Given the description of an element on the screen output the (x, y) to click on. 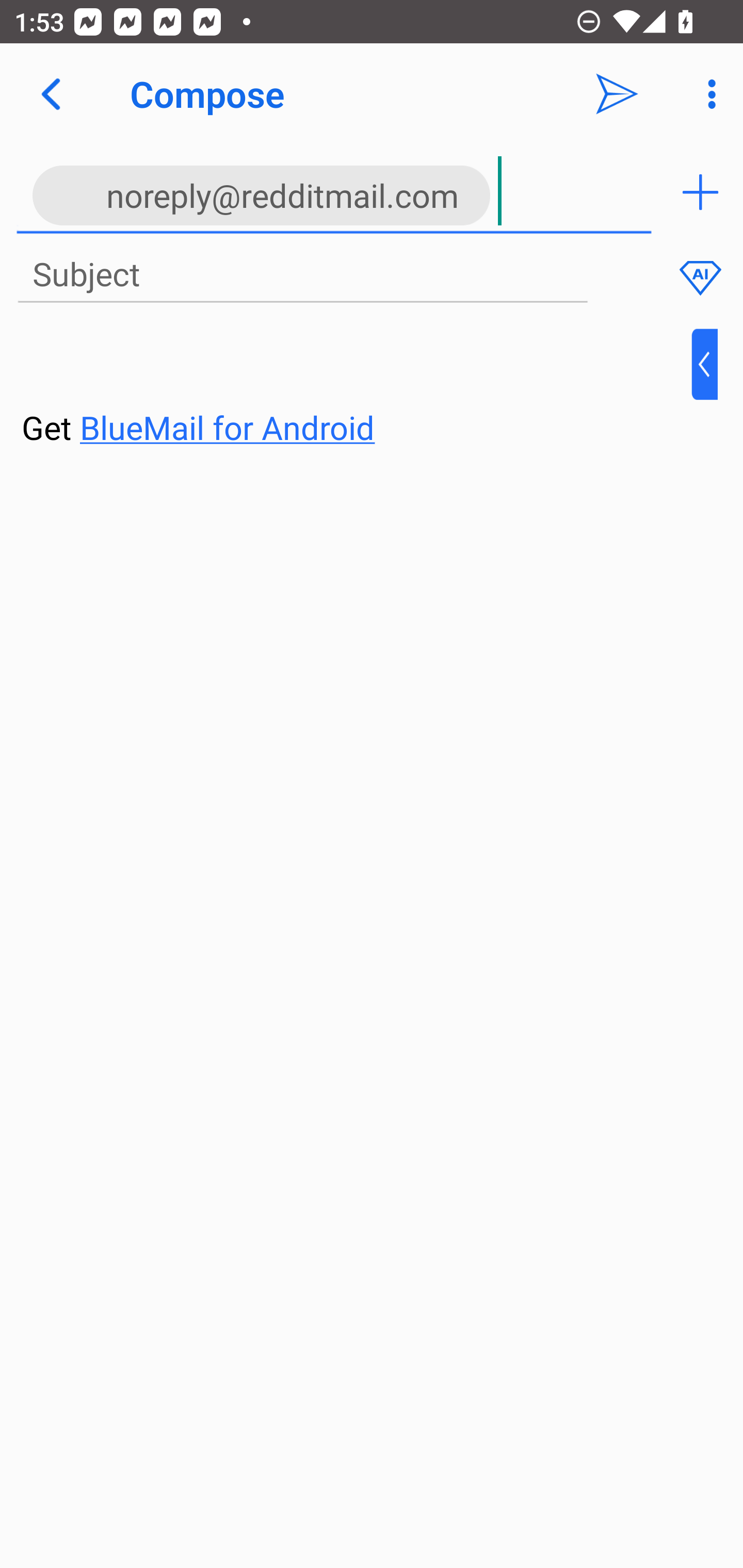
Navigate up (50, 93)
Send (616, 93)
More Options (706, 93)
<noreply@redditmail.com>,  (334, 191)
Add recipient (To) (699, 191)
Subject (302, 274)


⁣Get BlueMail for Android ​ (355, 390)
